Given the description of an element on the screen output the (x, y) to click on. 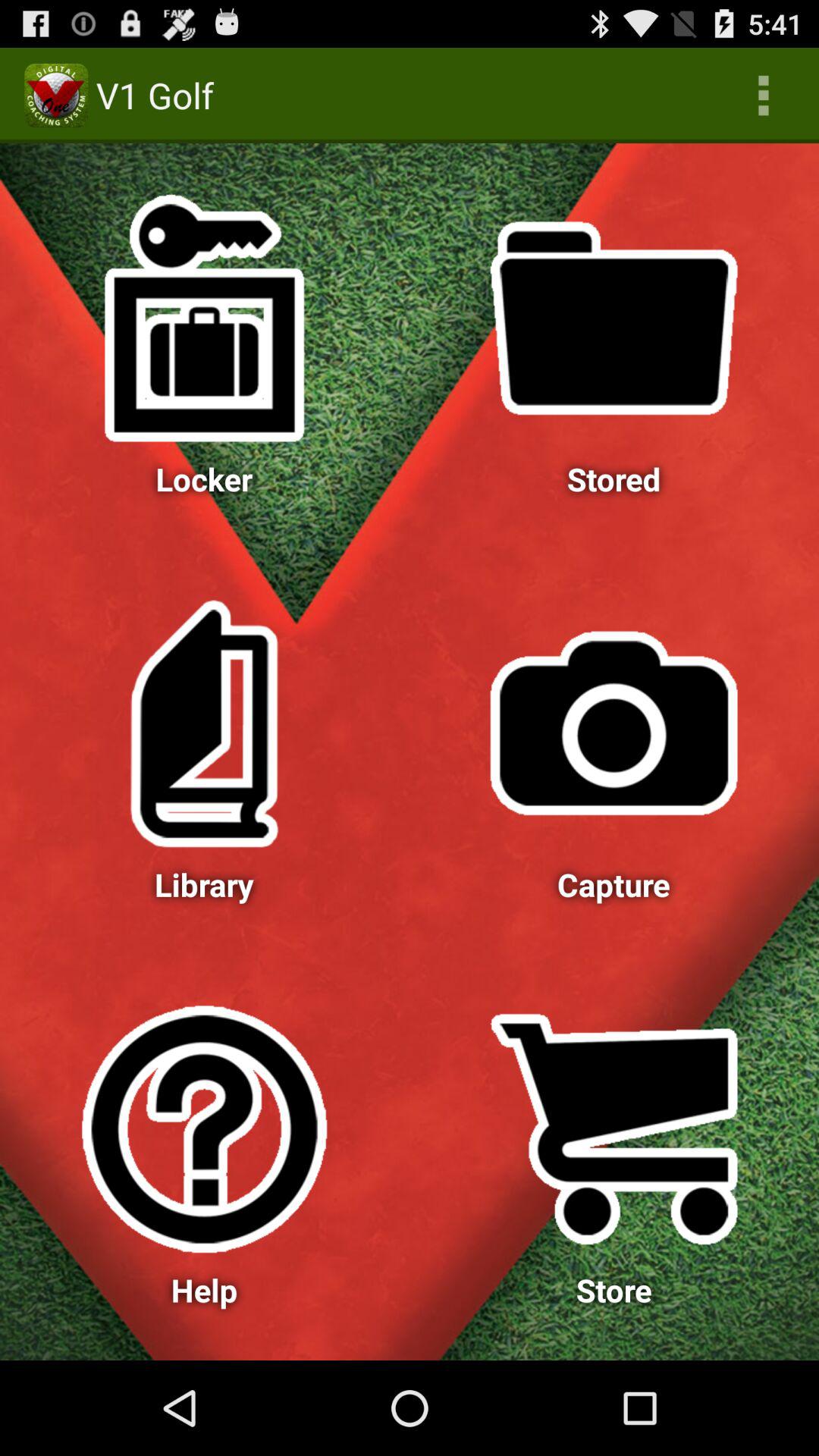
press icon next to v1 golf icon (763, 95)
